Given the description of an element on the screen output the (x, y) to click on. 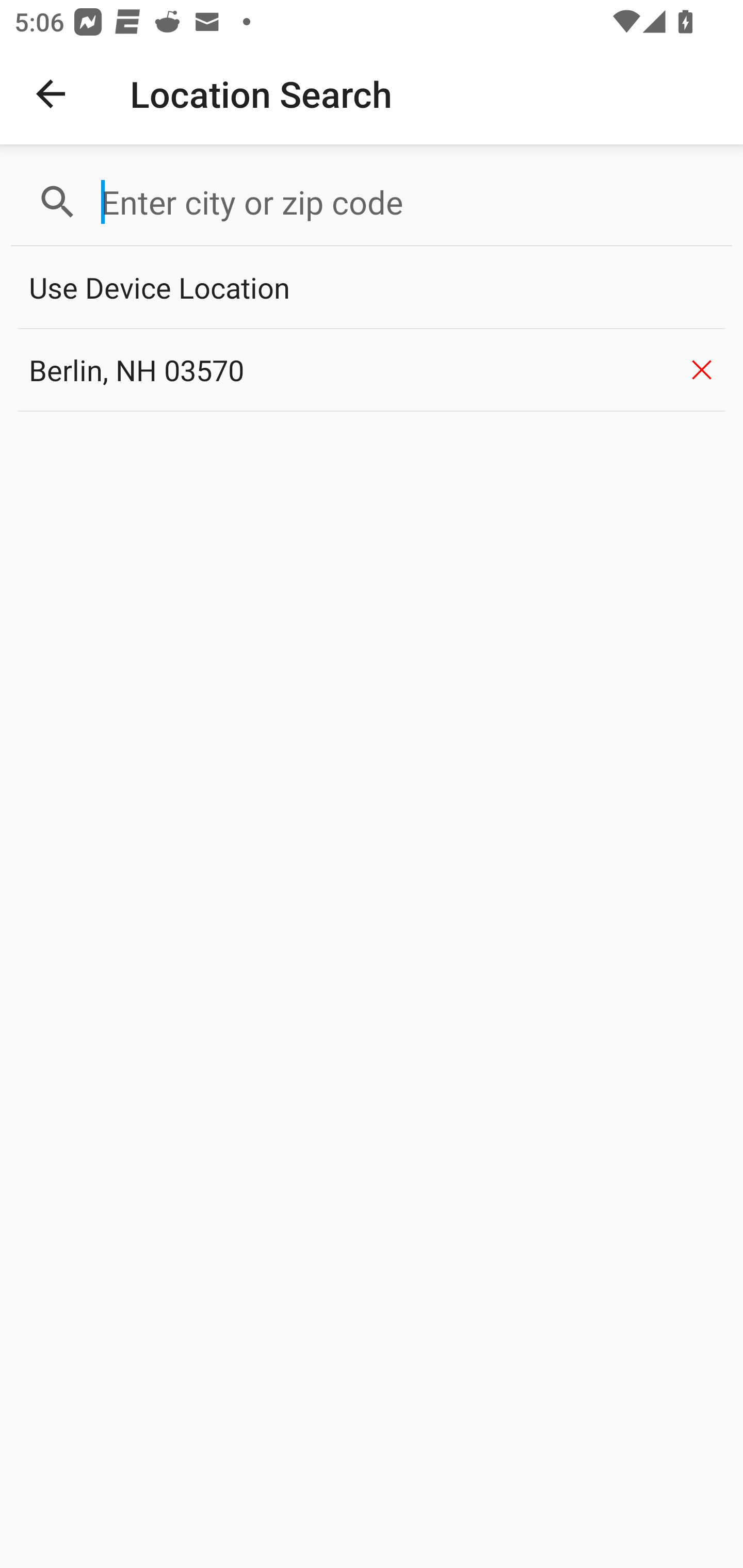
Navigate up (50, 93)
Enter city or zip code (407, 202)
Use Device Location (371, 287)
